Given the description of an element on the screen output the (x, y) to click on. 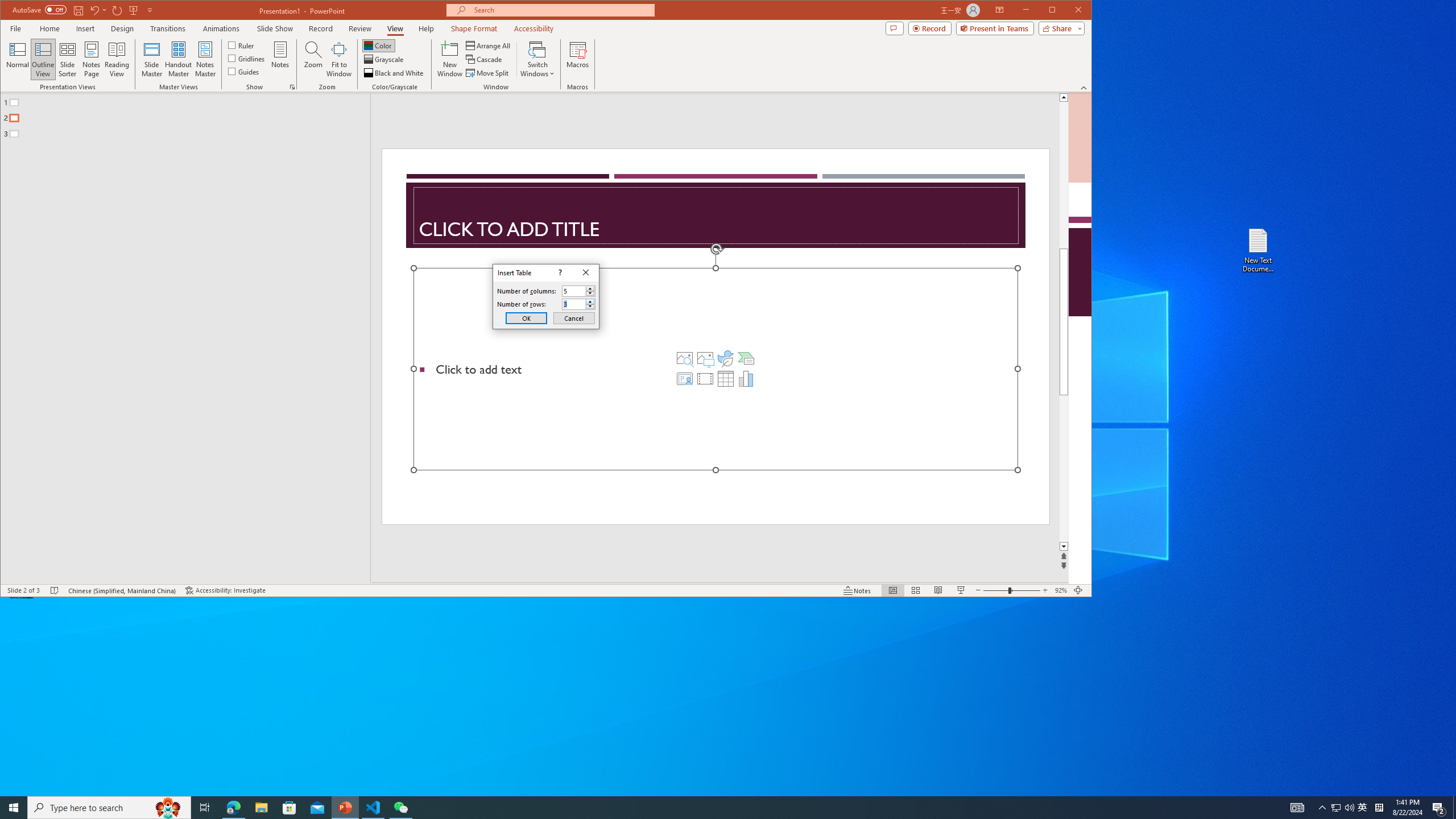
Macros (576, 59)
Insert Cameo (684, 378)
Insert Chart (745, 378)
Maximize (1068, 11)
WeChat - 1 running window (400, 807)
